Given the description of an element on the screen output the (x, y) to click on. 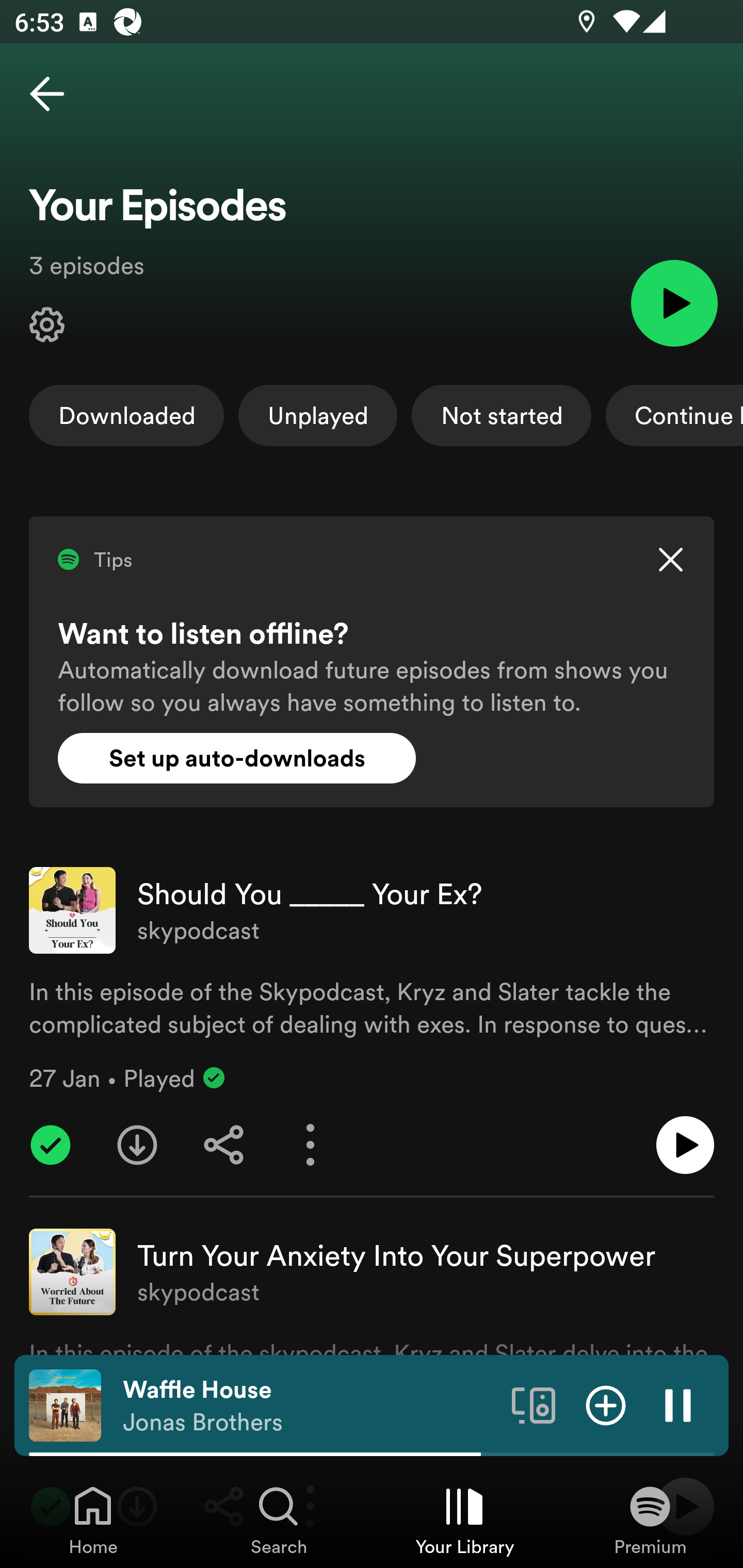
Back (46, 93)
Play (674, 302)
Your Episodes (46, 325)
Downloaded; show only downloaded episodes (125, 414)
Unplayed; show only unplayed episodes (317, 414)
Not started; show only not started episodes (501, 414)
Continue listening; show only episodes in progress (674, 414)
Dismiss (670, 559)
Set up auto-downloads (236, 758)
Should You _____ Your Ex? added to Your Episodes (50, 1145)
Download episode: Should You _____ Your Ex? (136, 1145)
Share (223, 1145)
More options for episode Should You _____ Your Ex? (310, 1145)
Play episode: Should You _____ Your Ex? (684, 1145)
Waffle House Jonas Brothers (309, 1405)
The cover art of the currently playing track (64, 1404)
Connect to a device. Opens the devices menu (533, 1404)
Add item (605, 1404)
Pause (677, 1404)
Home, Tab 1 of 4 Home Home (92, 1519)
Search, Tab 2 of 4 Search Search (278, 1519)
Your Library, Tab 3 of 4 Your Library Your Library (464, 1519)
Premium, Tab 4 of 4 Premium Premium (650, 1519)
